Given the description of an element on the screen output the (x, y) to click on. 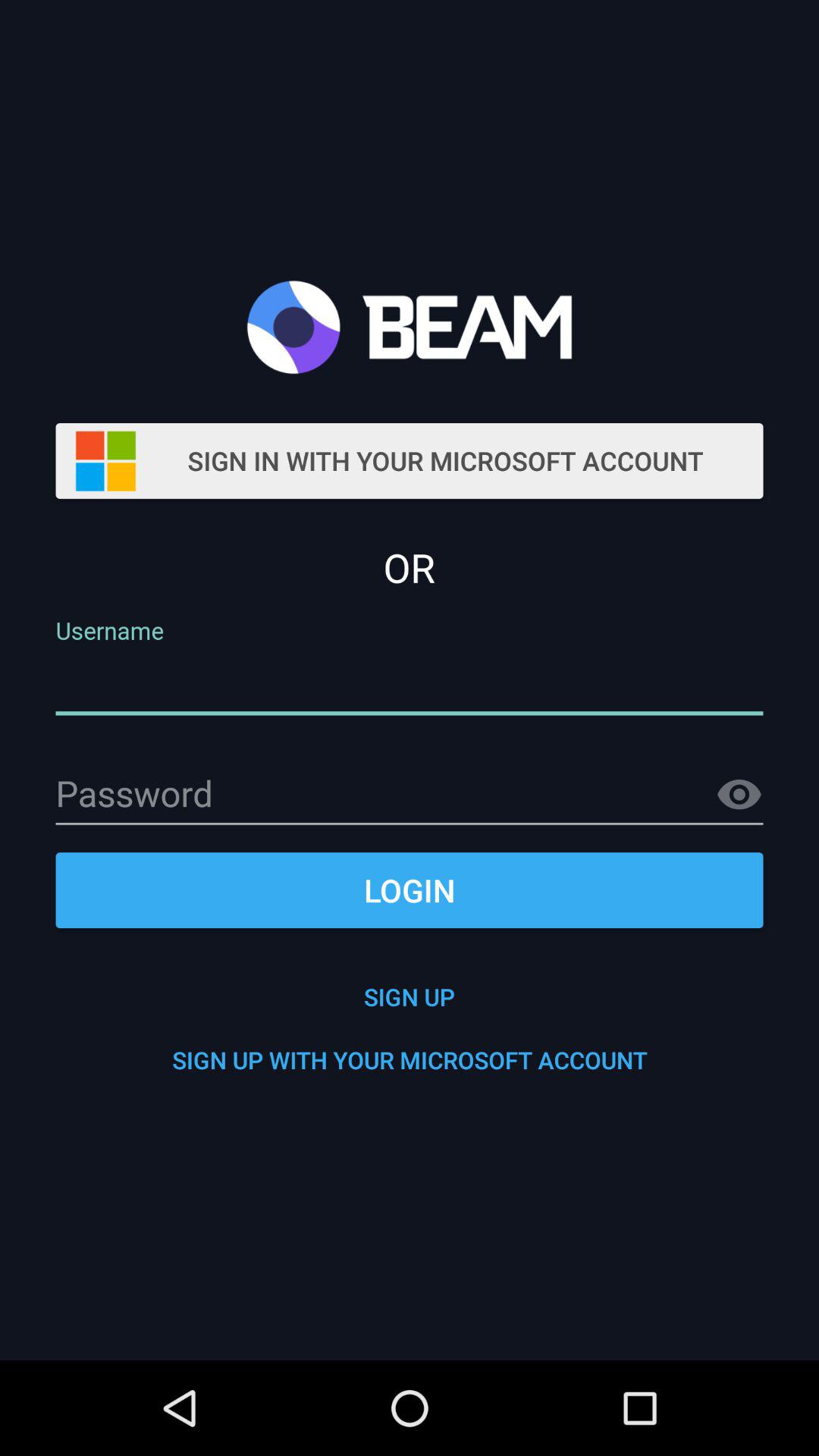
enter user name (409, 684)
